Given the description of an element on the screen output the (x, y) to click on. 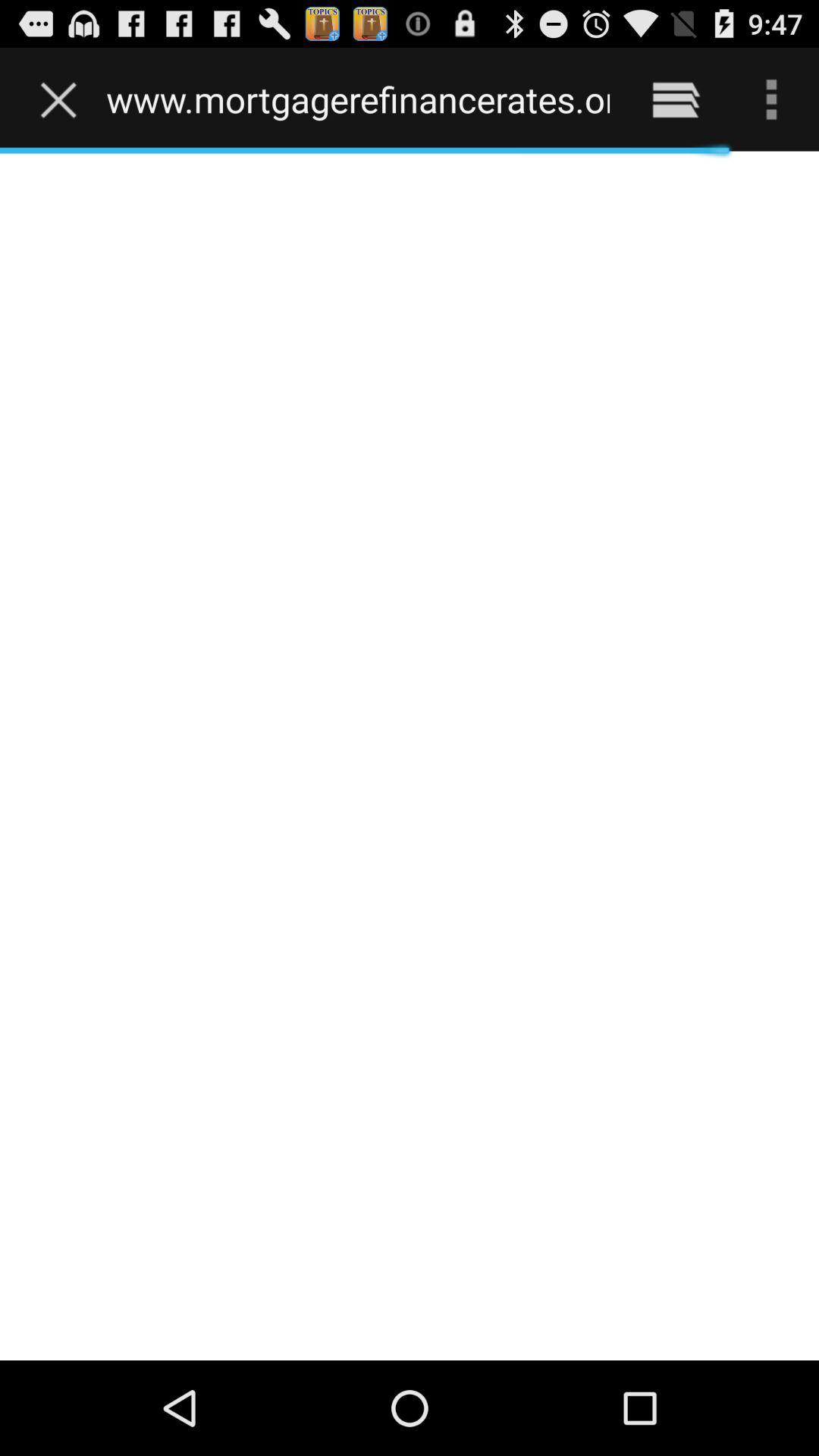
jump until www mortgagerefinancerates org icon (357, 99)
